Given the description of an element on the screen output the (x, y) to click on. 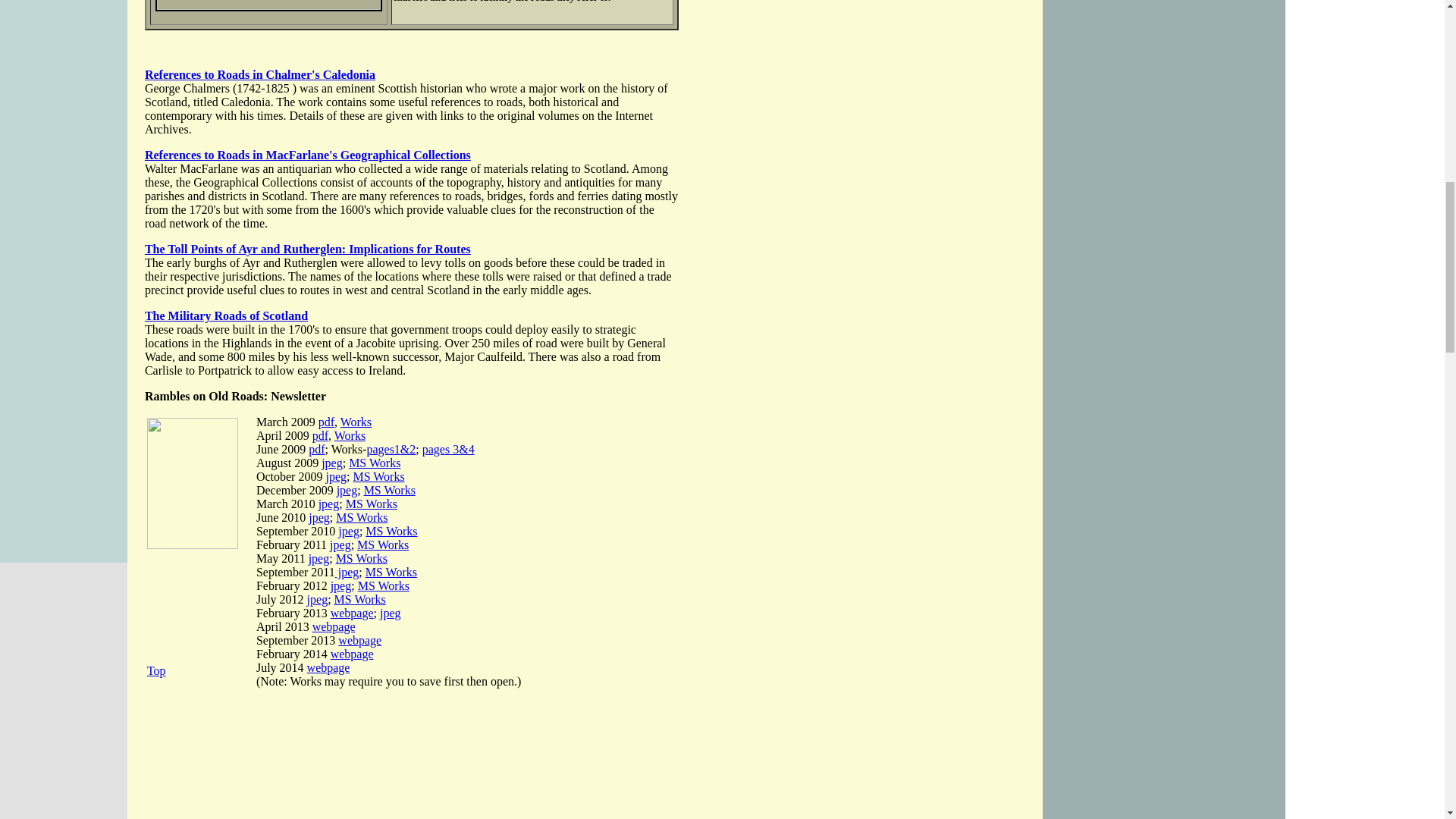
MS Works (371, 503)
Works (355, 421)
pdf (326, 421)
jpeg (328, 503)
Works (349, 435)
pdf (321, 435)
References to Roads in Chalmer's Caledonia (259, 74)
MS Works (378, 476)
MS Works (374, 462)
MS Works (389, 490)
MS Works (361, 517)
jpeg (347, 490)
pdf (316, 449)
References to Roads in MacFarlane's Geographical Collections (307, 154)
